Given the description of an element on the screen output the (x, y) to click on. 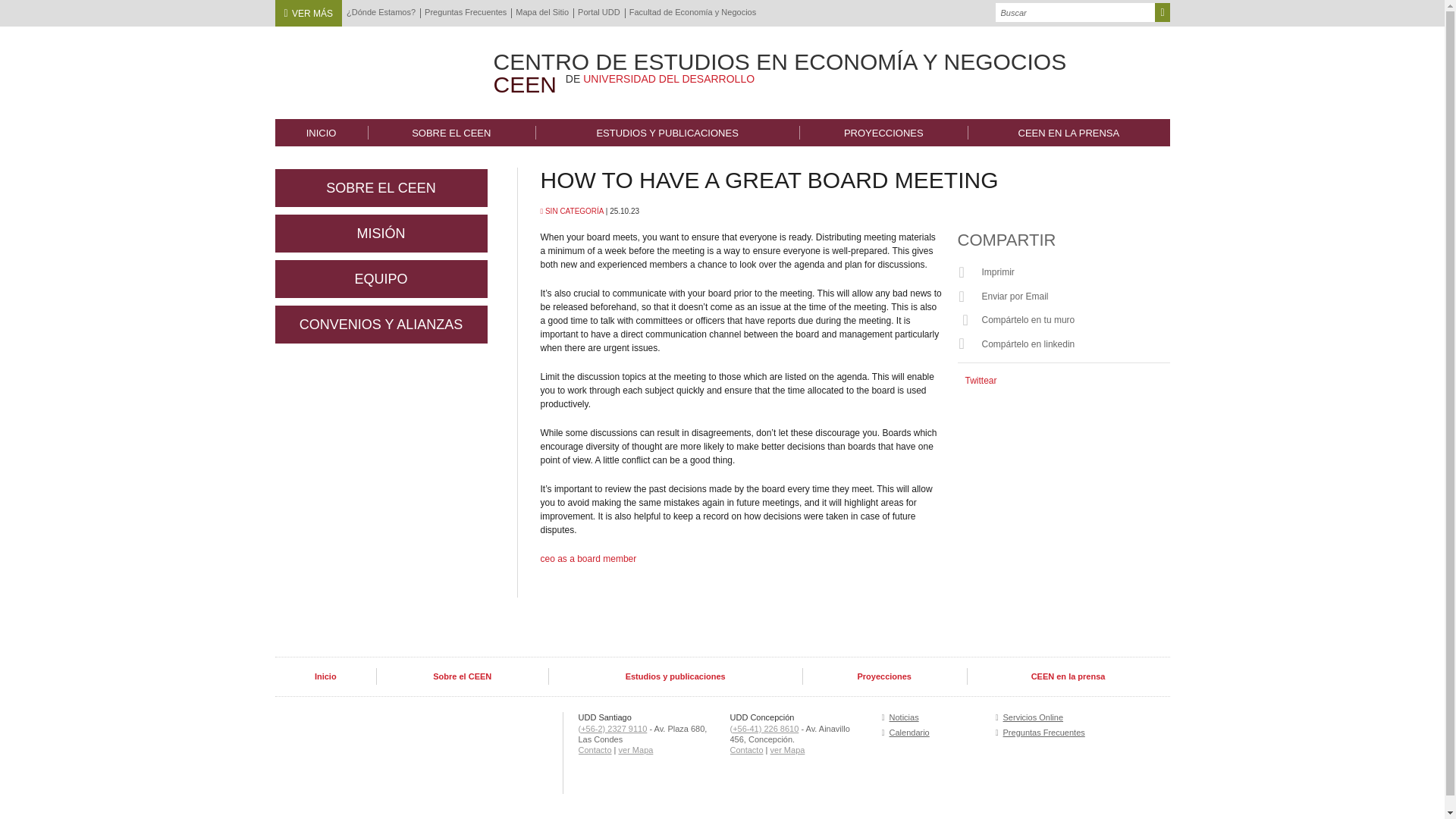
Universidad del Desarrollo (369, 67)
SOBRE EL CEEN (451, 132)
ESTUDIOS Y PUBLICACIONES (667, 132)
Portal UDD (598, 12)
UNIVERSIDAD DEL DESARROLLO (668, 78)
Mapa del Sitio (542, 12)
Preguntas Frecuentes (465, 12)
INICIO (320, 132)
